Given the description of an element on the screen output the (x, y) to click on. 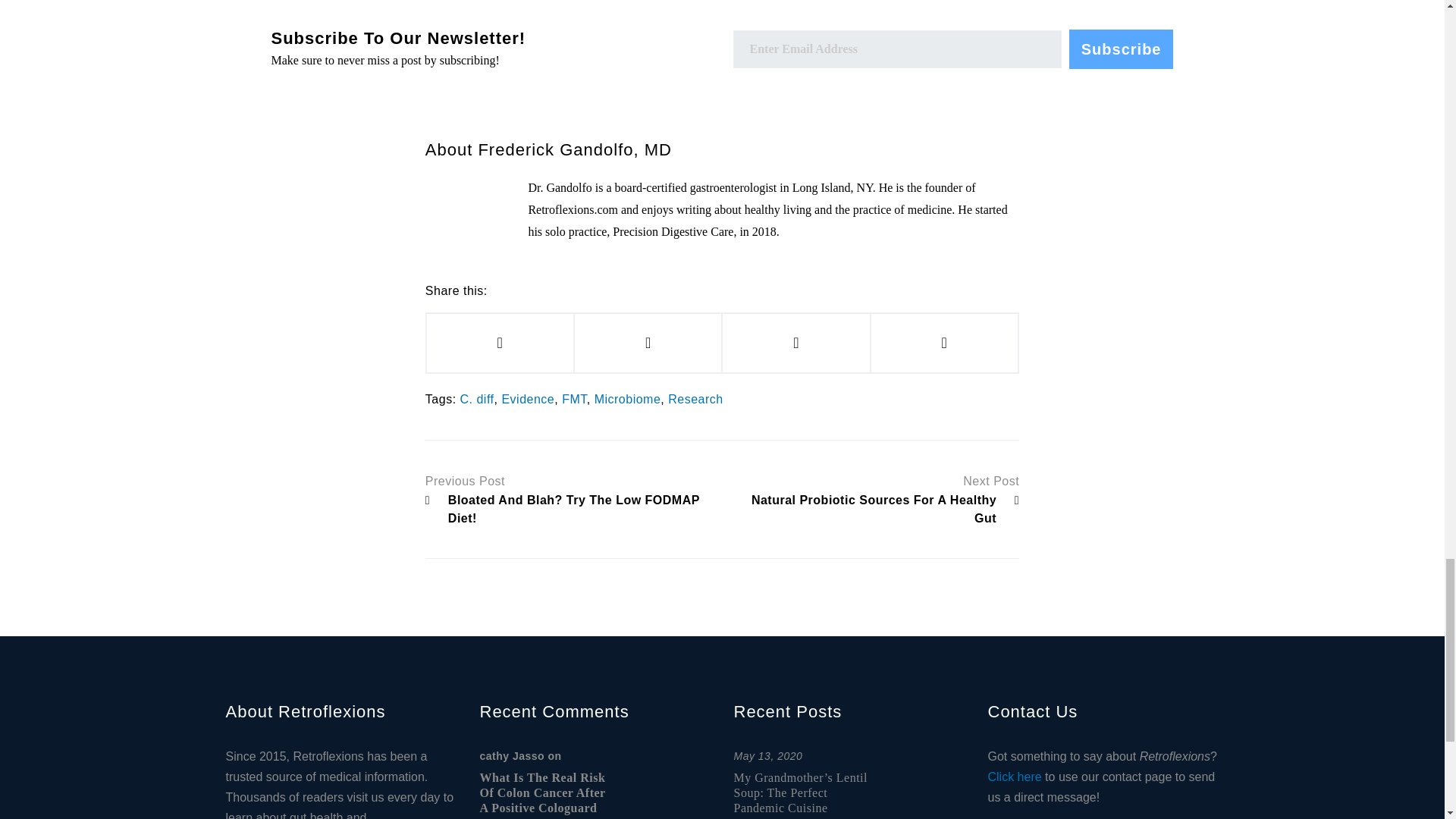
FMT (574, 399)
Subscribe (1120, 48)
Share this on Pinterest (795, 342)
Share this on LinkedIn (943, 342)
C. diff (477, 399)
Evidence (527, 399)
Share this on Twitter (647, 342)
Share this on Facebook (499, 342)
